Given the description of an element on the screen output the (x, y) to click on. 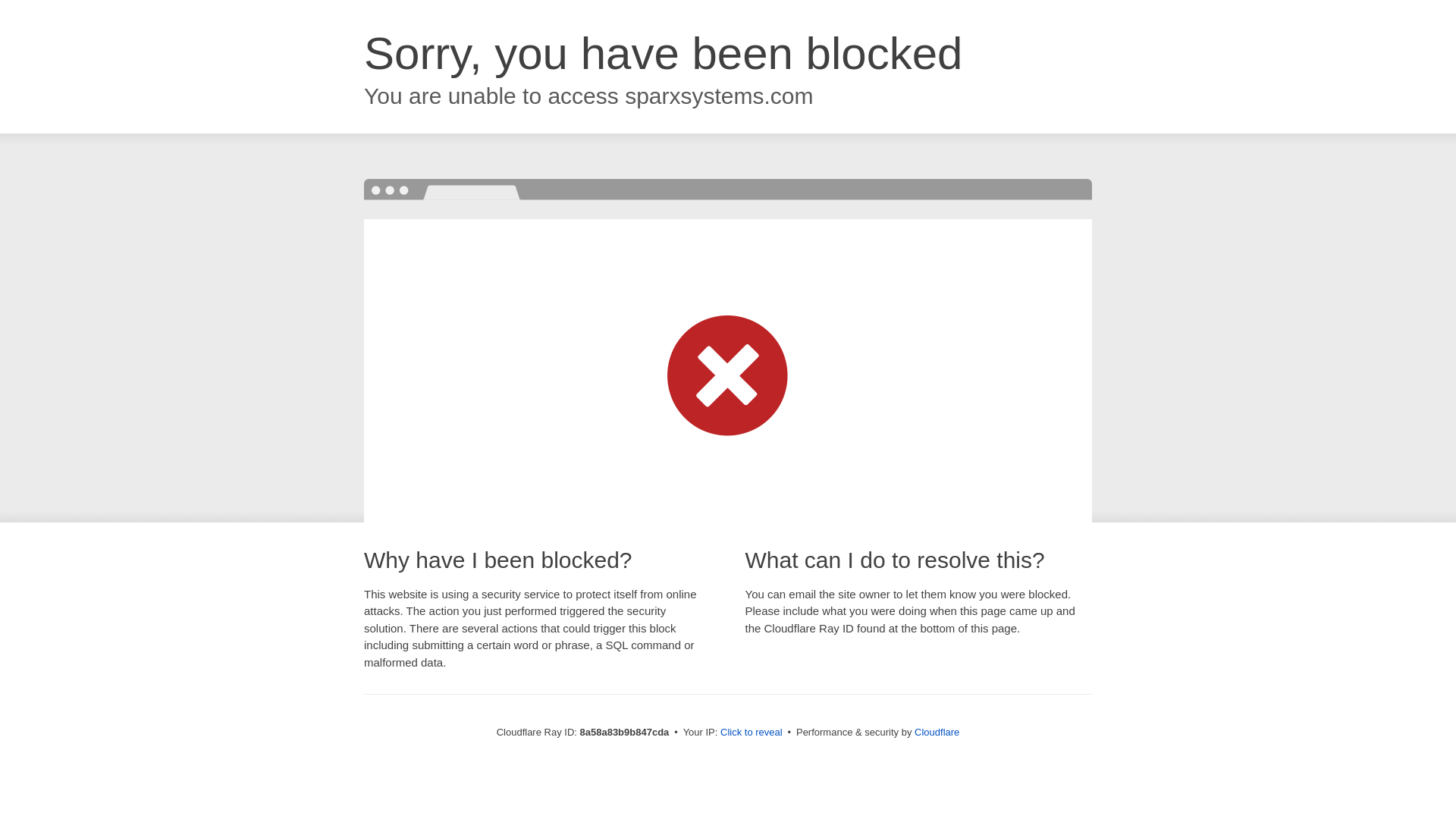
Cloudflare (936, 731)
Click to reveal (751, 732)
